Given the description of an element on the screen output the (x, y) to click on. 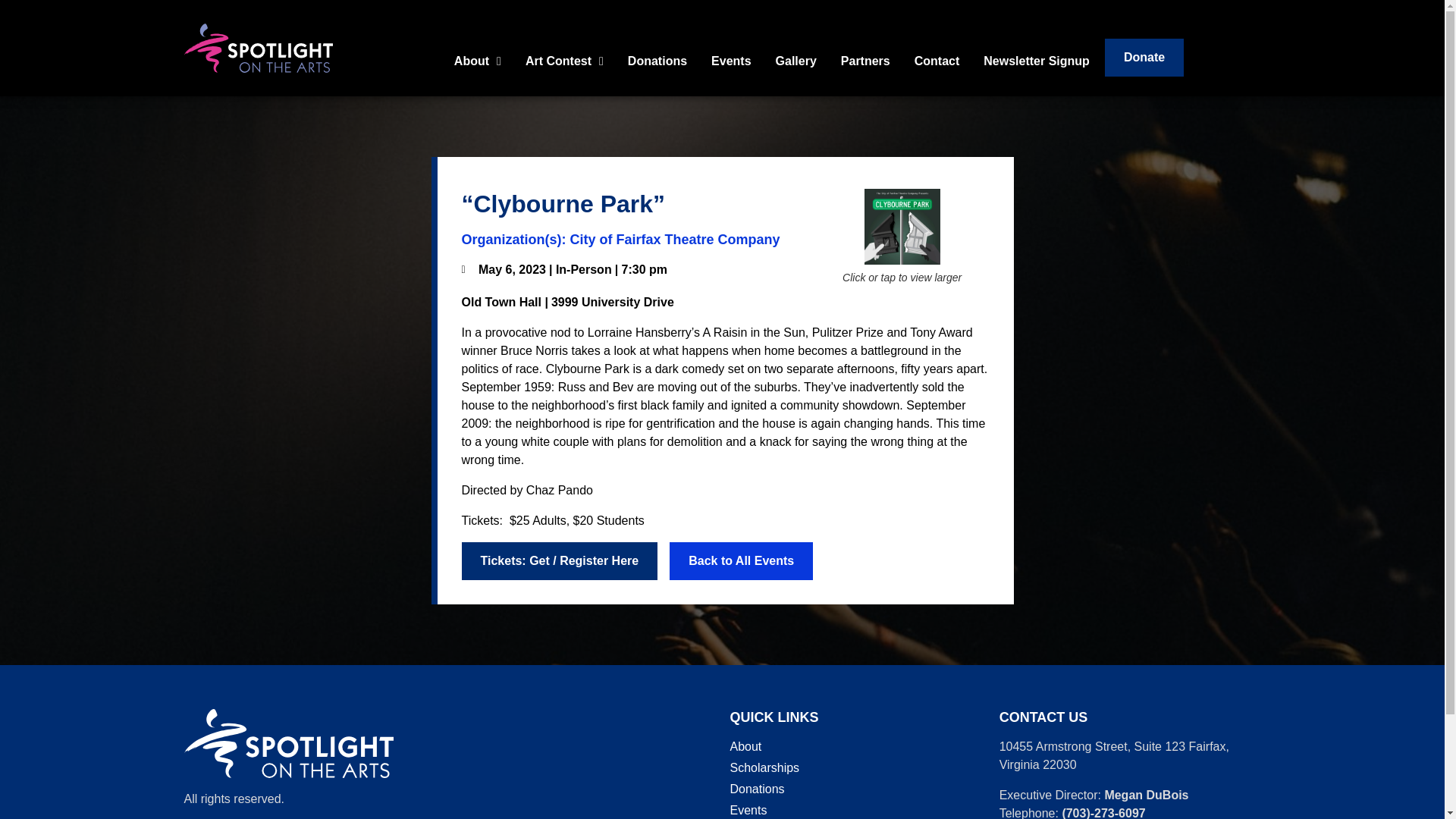
Donate (1144, 57)
Events (731, 60)
Contact (936, 60)
Gallery (796, 60)
Donations (657, 60)
Newsletter Signup (1036, 60)
About (477, 60)
Art Contest (564, 60)
Partners (865, 60)
